Given the description of an element on the screen output the (x, y) to click on. 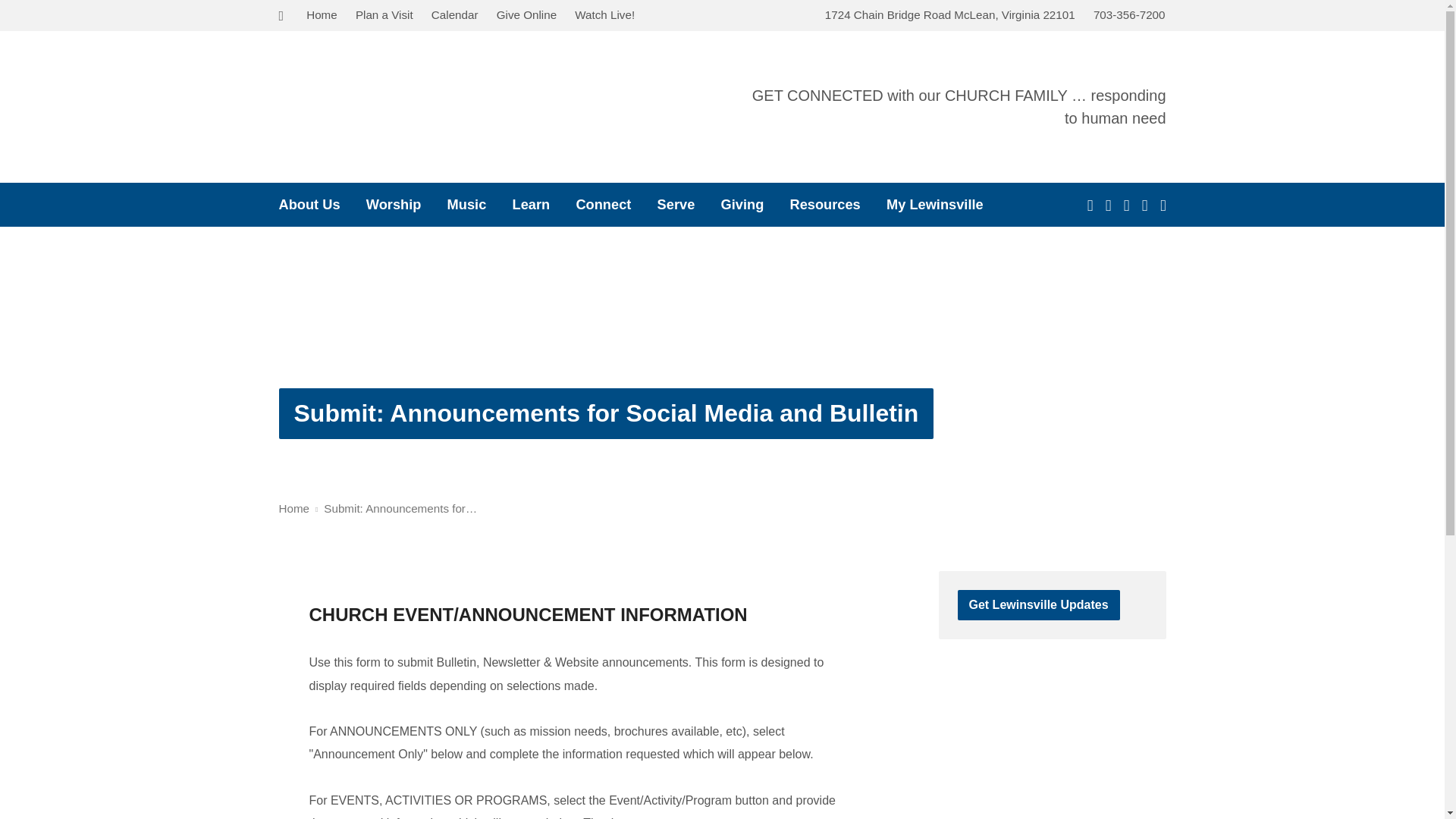
Watch Live! (604, 14)
Music (466, 204)
Give Online (526, 14)
1724 Chain Bridge Road McLean, Virginia 22101 (950, 14)
703-356-7200 (1129, 14)
Submit:  Announcements for Social Media and Bulletin (606, 412)
Home (321, 14)
Plan a Visit (384, 14)
Worship (394, 204)
Calendar (454, 14)
Learn (531, 204)
About Us (309, 204)
